Given the description of an element on the screen output the (x, y) to click on. 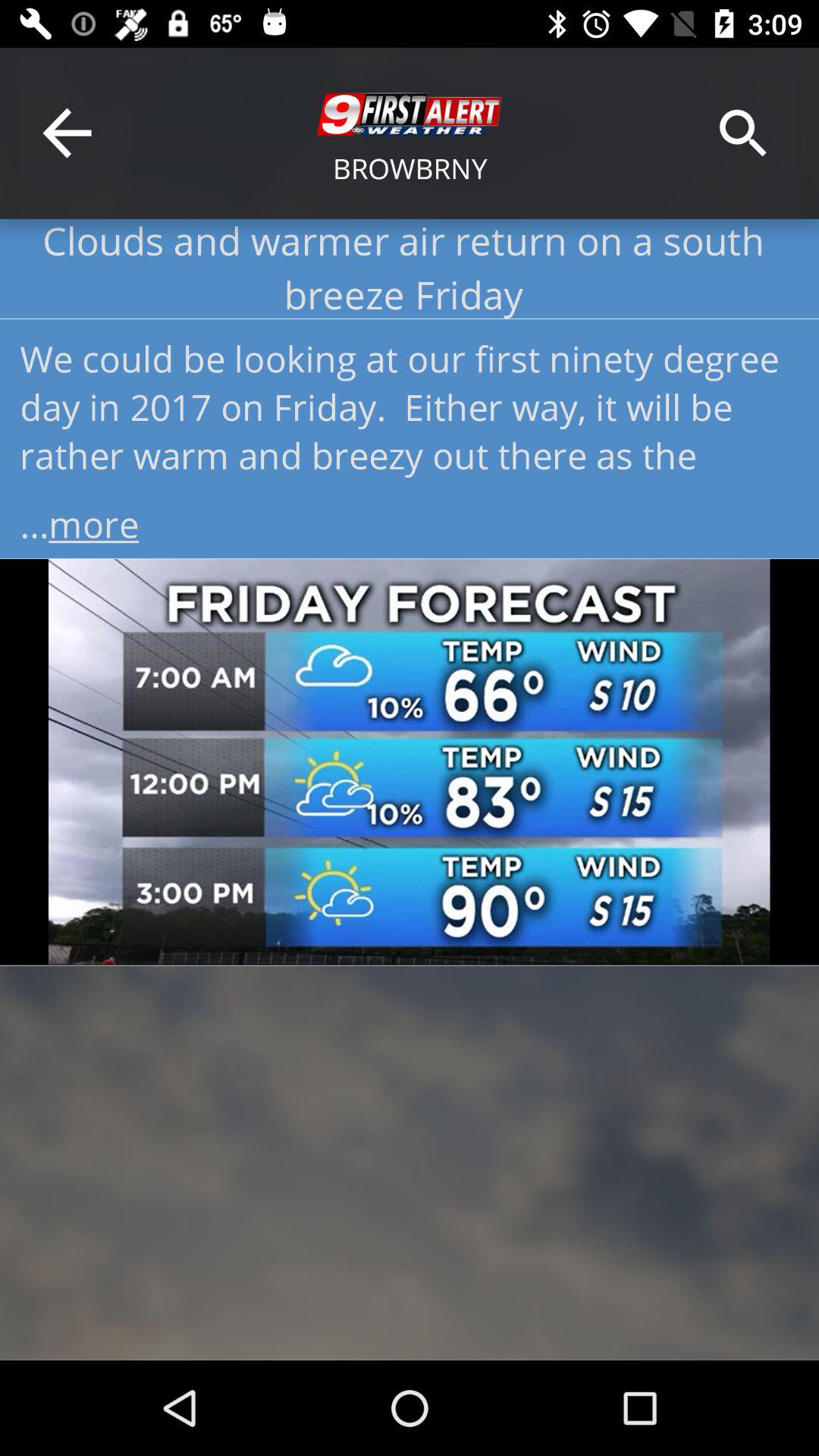
press item below the we could be item (409, 518)
